Given the description of an element on the screen output the (x, y) to click on. 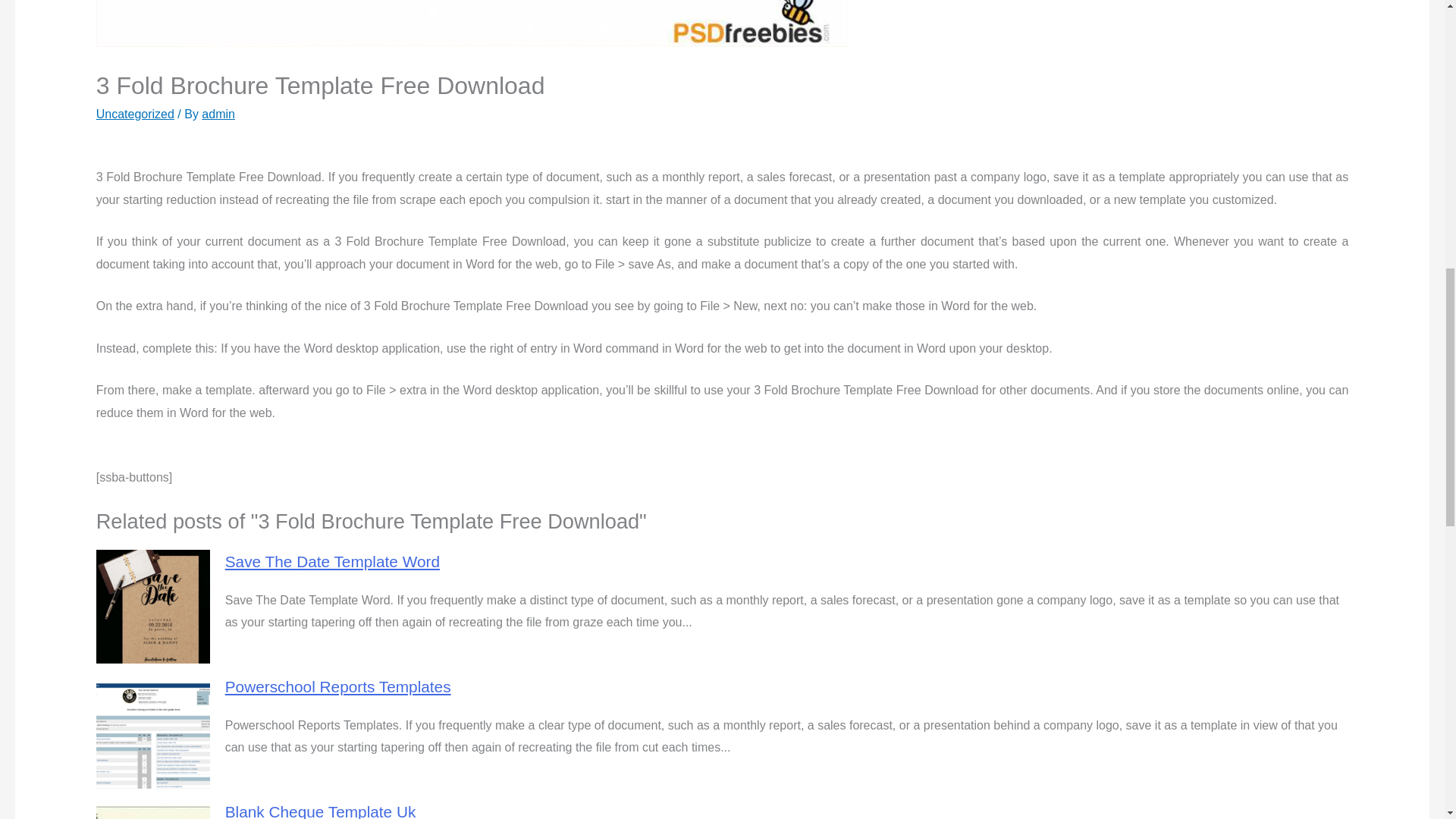
admin (218, 113)
Save The Date Template Word (332, 561)
View all posts by admin (218, 113)
Blank Cheque Template Uk (320, 811)
Powerschool Reports Templates (338, 686)
Uncategorized (135, 113)
